Given the description of an element on the screen output the (x, y) to click on. 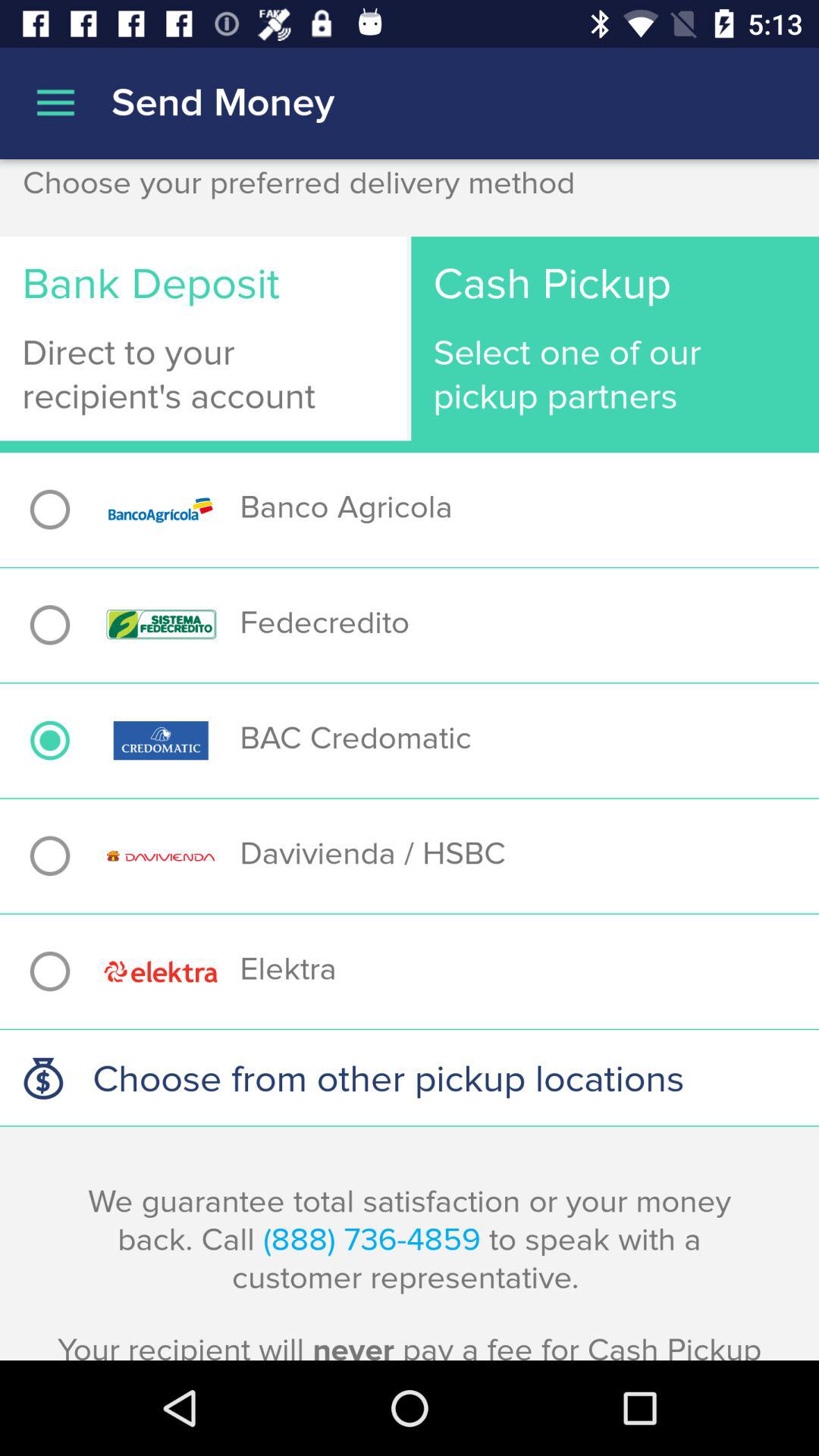
select the item below choose from other (409, 1271)
